Given the description of an element on the screen output the (x, y) to click on. 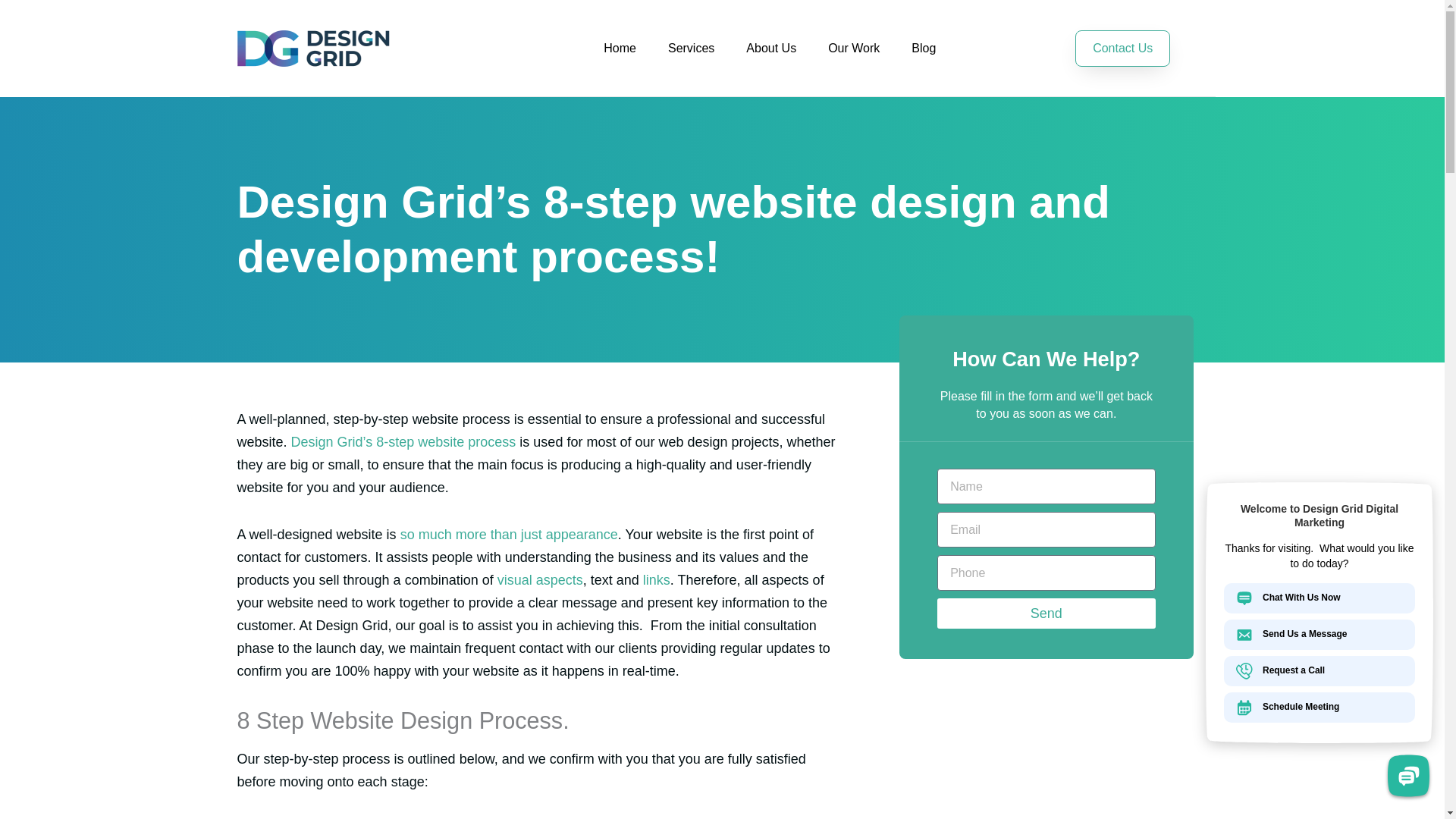
Home (620, 48)
About Us (771, 48)
Our Work (853, 48)
Contact Us (1122, 48)
Services (691, 48)
Blog (923, 48)
